Given the description of an element on the screen output the (x, y) to click on. 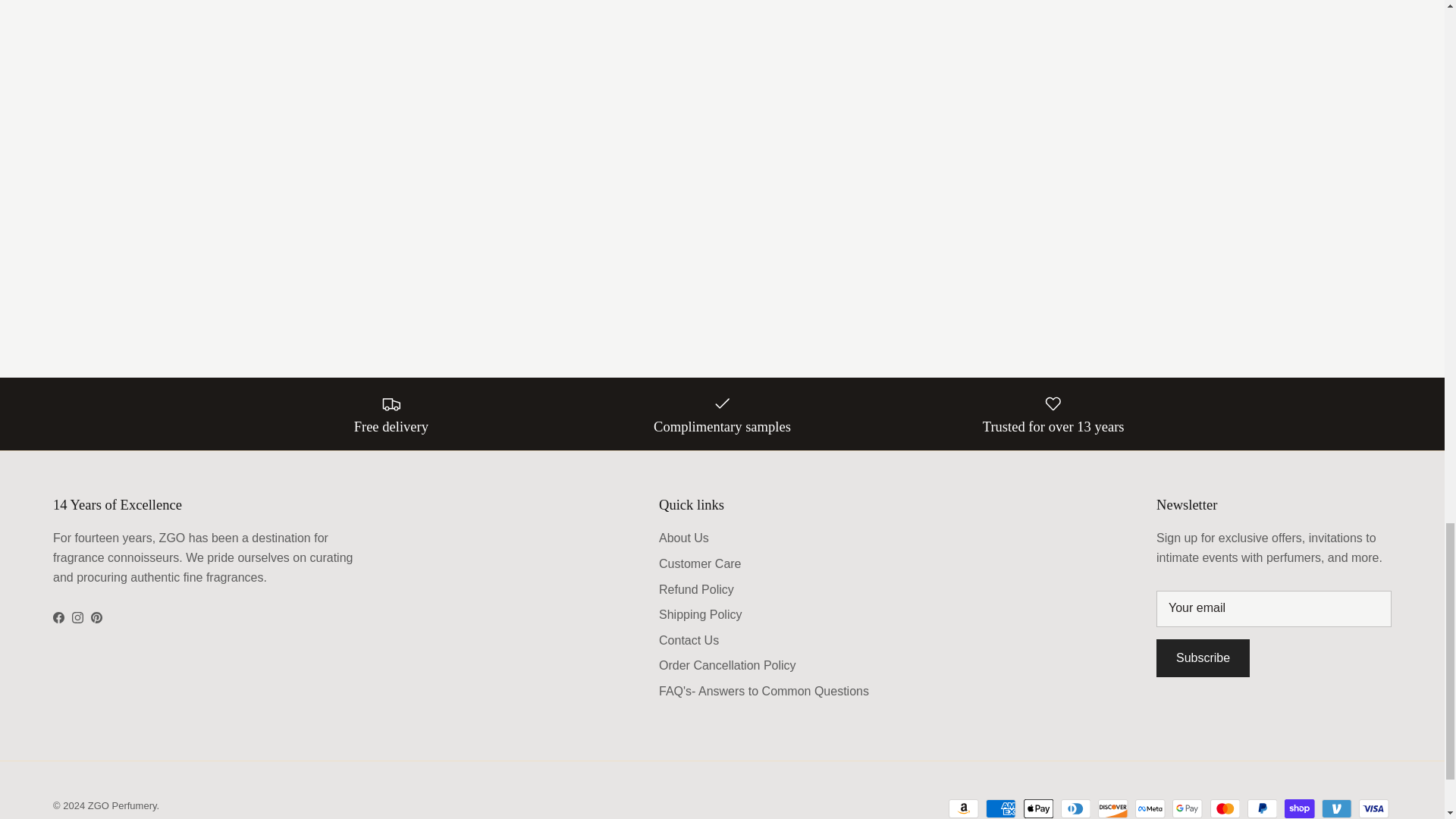
Apple Pay (1038, 808)
ZGO Perfumery on Facebook (58, 617)
ZGO Perfumery on Pinterest (95, 617)
Discover (1112, 808)
American Express (1000, 808)
Amazon (963, 808)
ZGO Perfumery on Instagram (76, 617)
Diners Club (1075, 808)
